Given the description of an element on the screen output the (x, y) to click on. 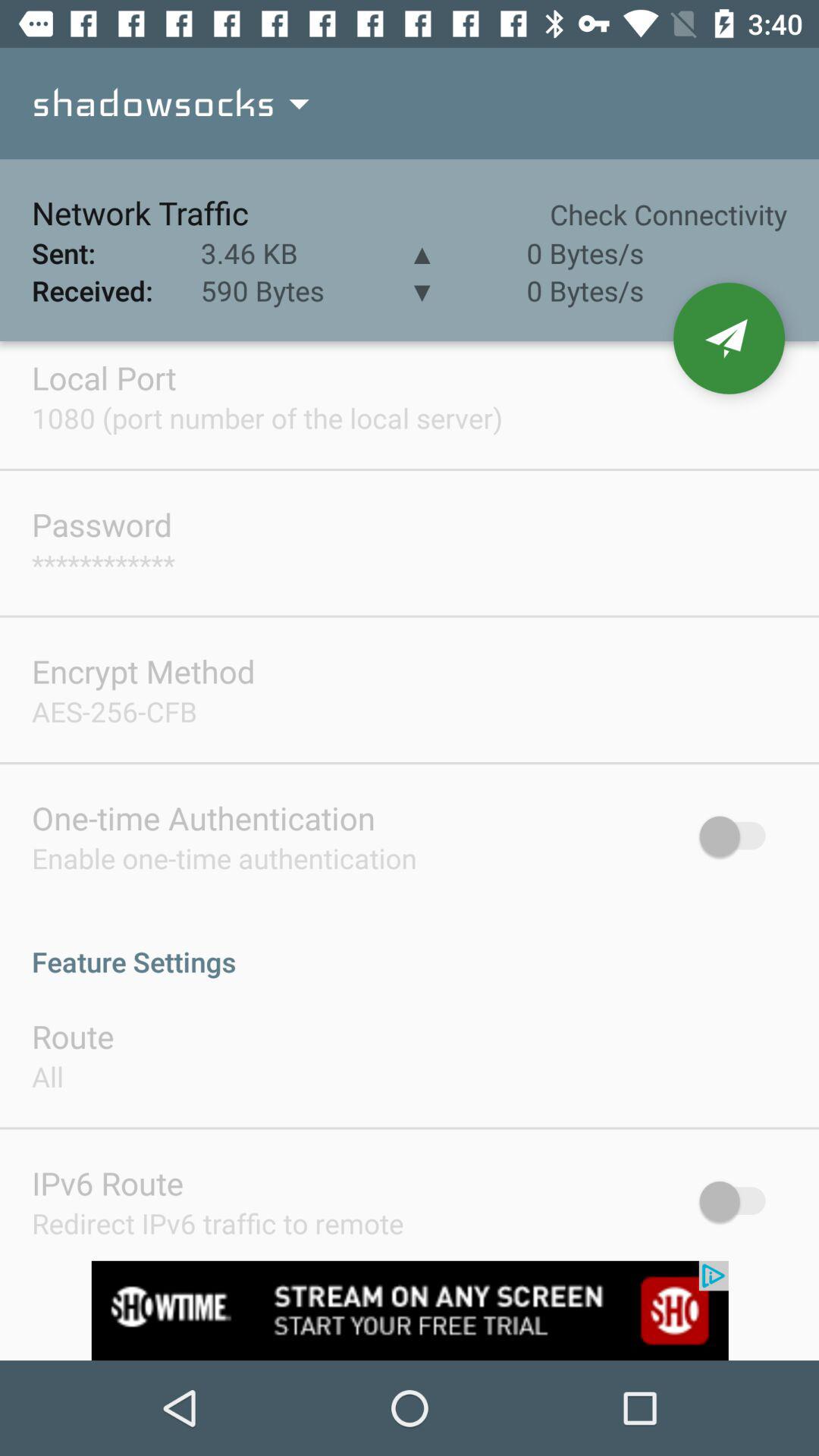
open map (728, 338)
